Given the description of an element on the screen output the (x, y) to click on. 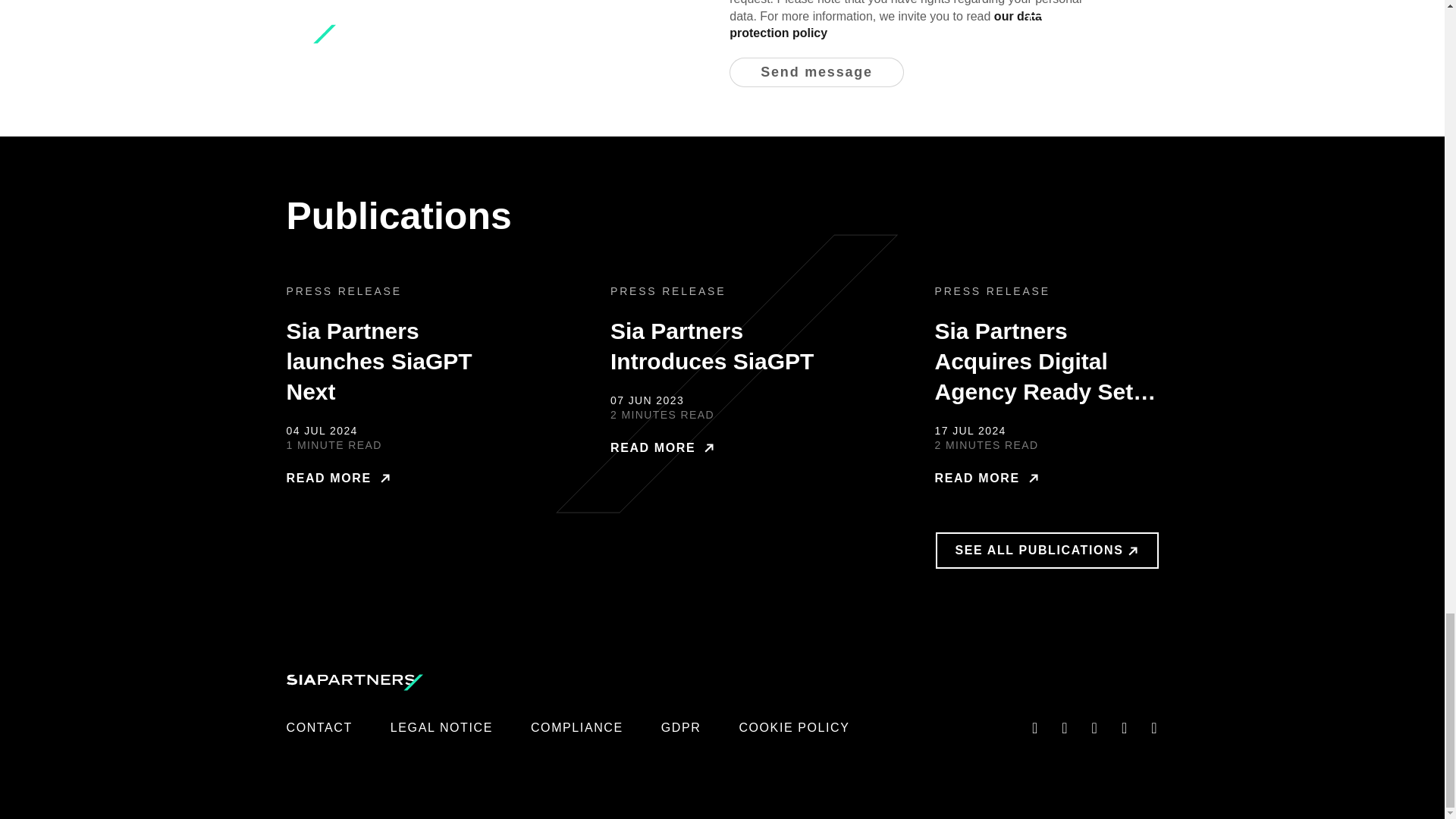
See all publications (1047, 550)
Sia Partners (354, 681)
Send message (816, 72)
